Given the description of an element on the screen output the (x, y) to click on. 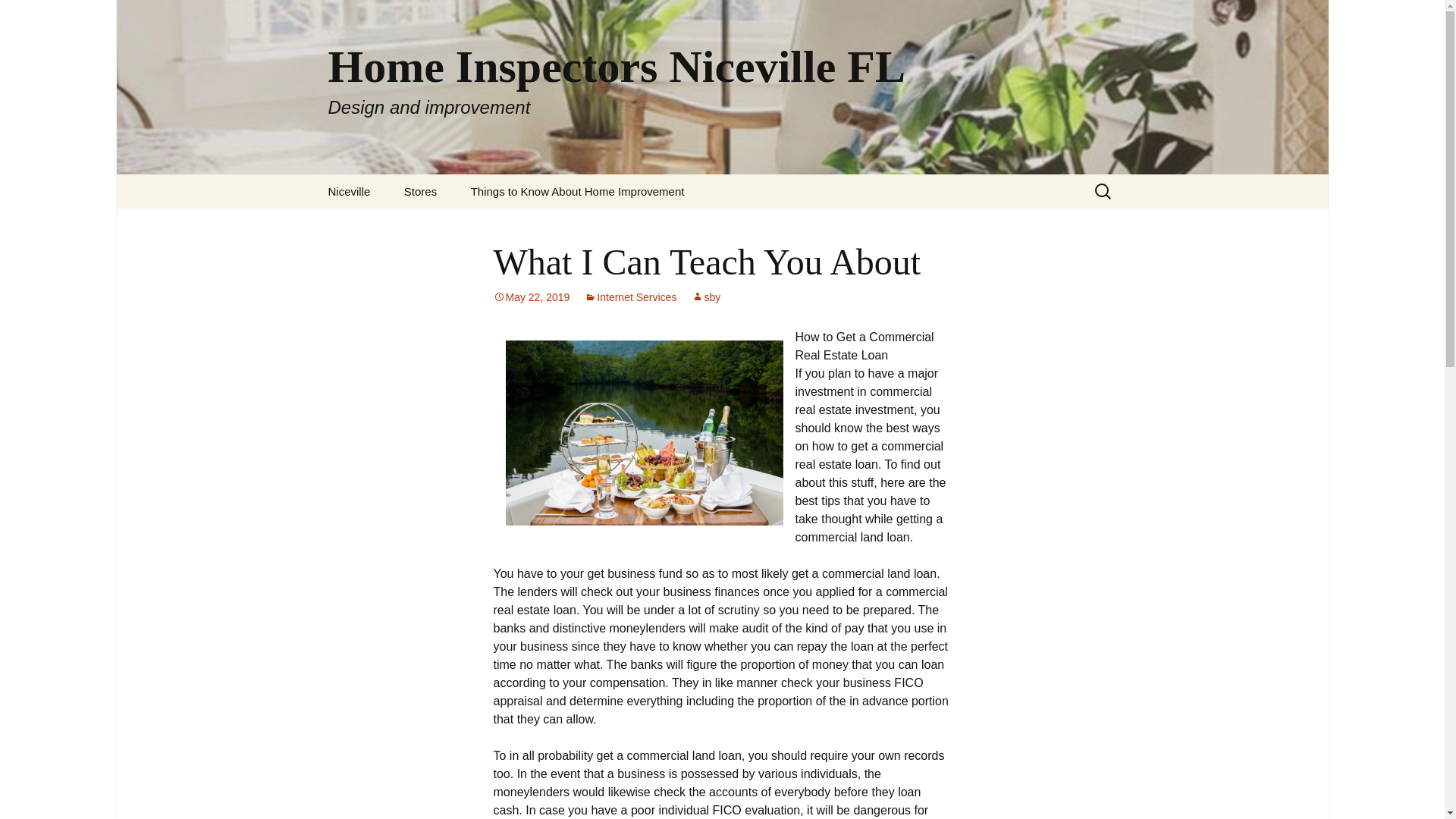
Stores (419, 191)
Internet Services (631, 297)
View all posts by sby (705, 297)
Niceville (349, 191)
Things to Know About Home Improvement (577, 191)
Search (34, 15)
Home Inspectors Niceville FL (18, 15)
Permalink to What I Can Teach You About (705, 297)
Skip to content (531, 297)
